Given the description of an element on the screen output the (x, y) to click on. 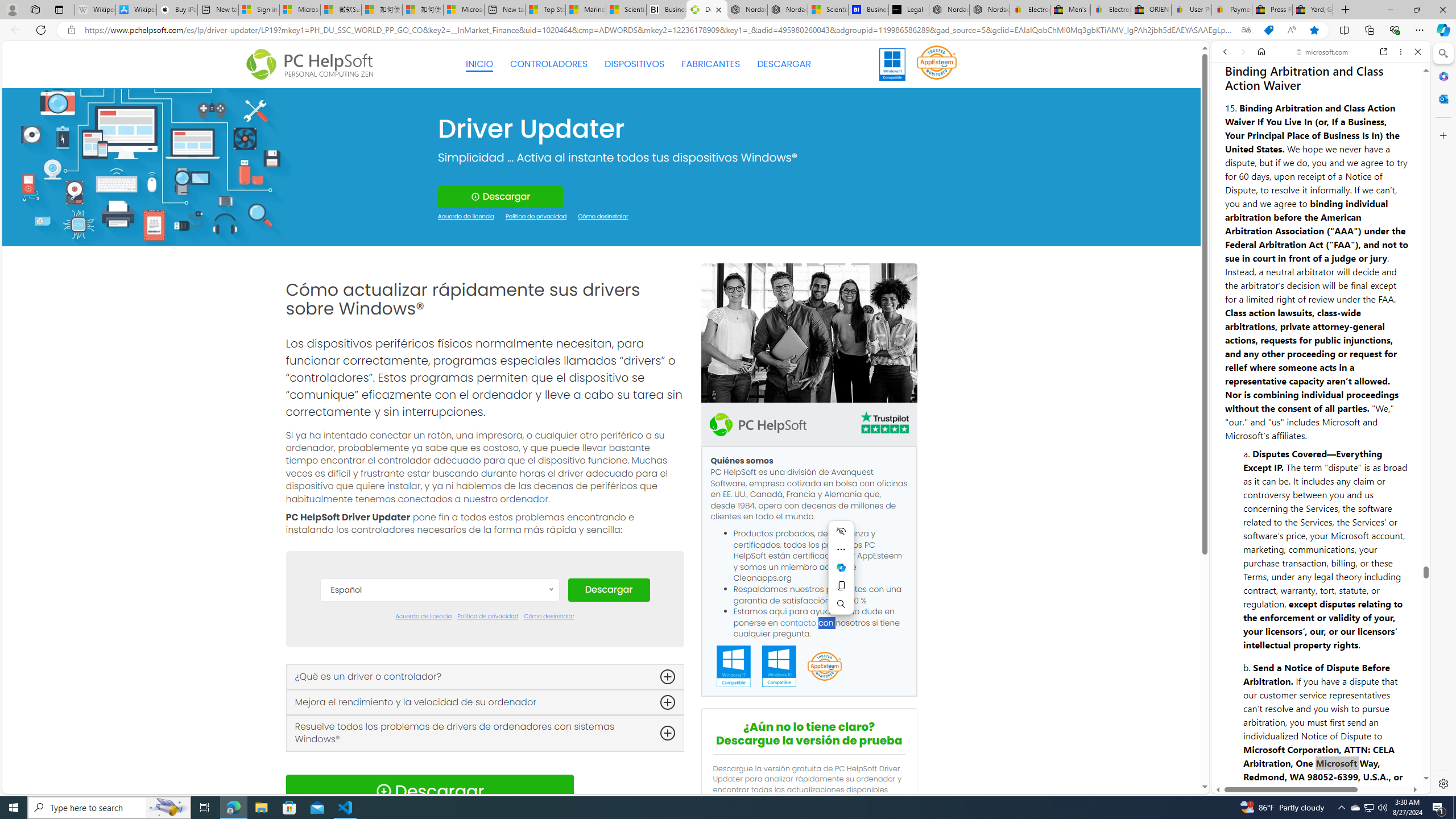
Feedback (1384, 751)
Italiano (439, 746)
Buy iPad - Apple (176, 9)
PCHelpsoft (757, 423)
English (439, 695)
Privacy (1252, 757)
Microsoft account | Account Checkup (463, 9)
Legal (1291, 751)
